Given the description of an element on the screen output the (x, y) to click on. 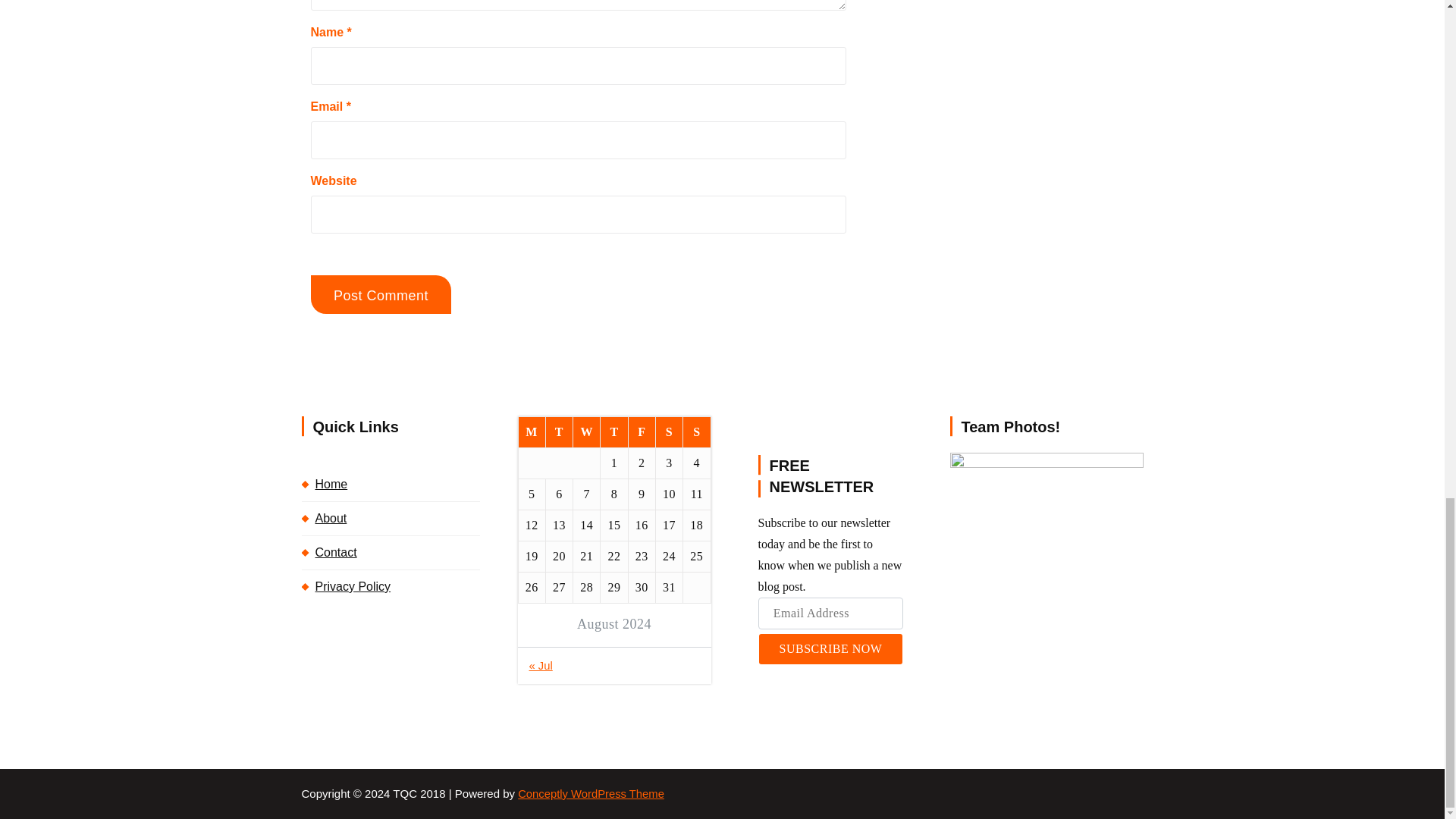
Post Comment (381, 294)
SUBSCRIBE NOW (830, 649)
Home (390, 484)
Post Comment (381, 294)
